Given the description of an element on the screen output the (x, y) to click on. 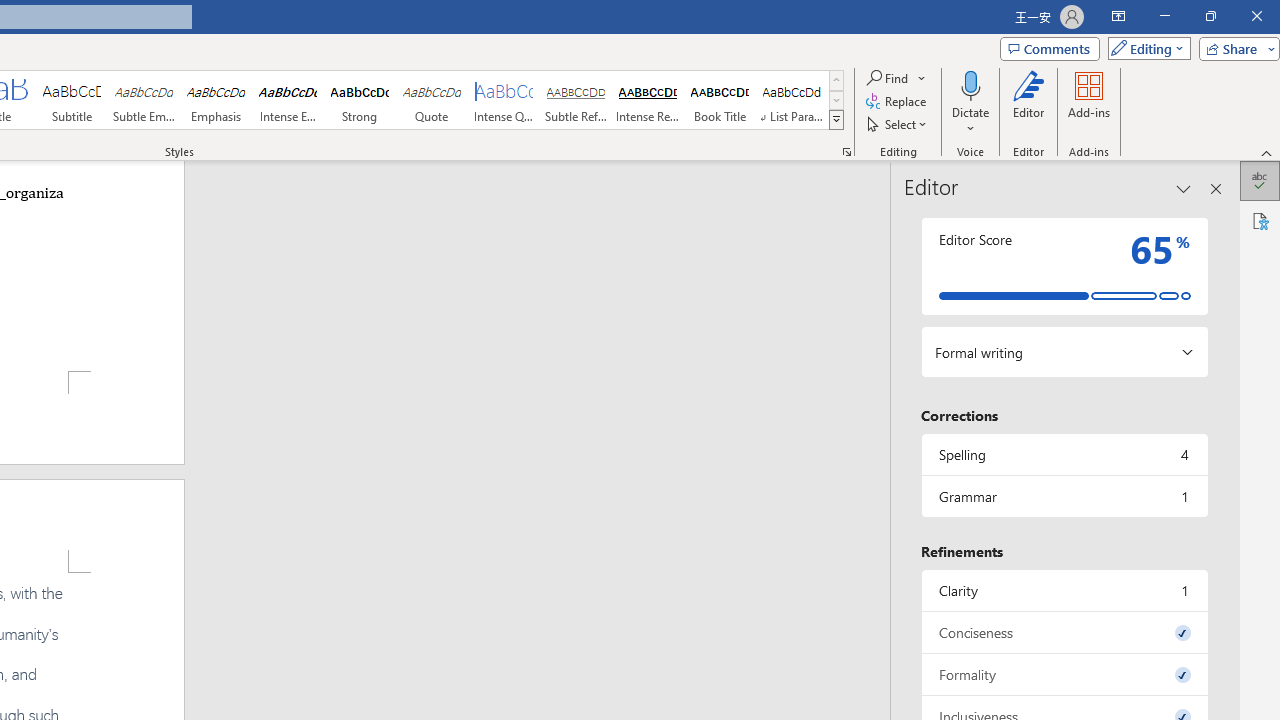
Strong (359, 100)
